Given the description of an element on the screen output the (x, y) to click on. 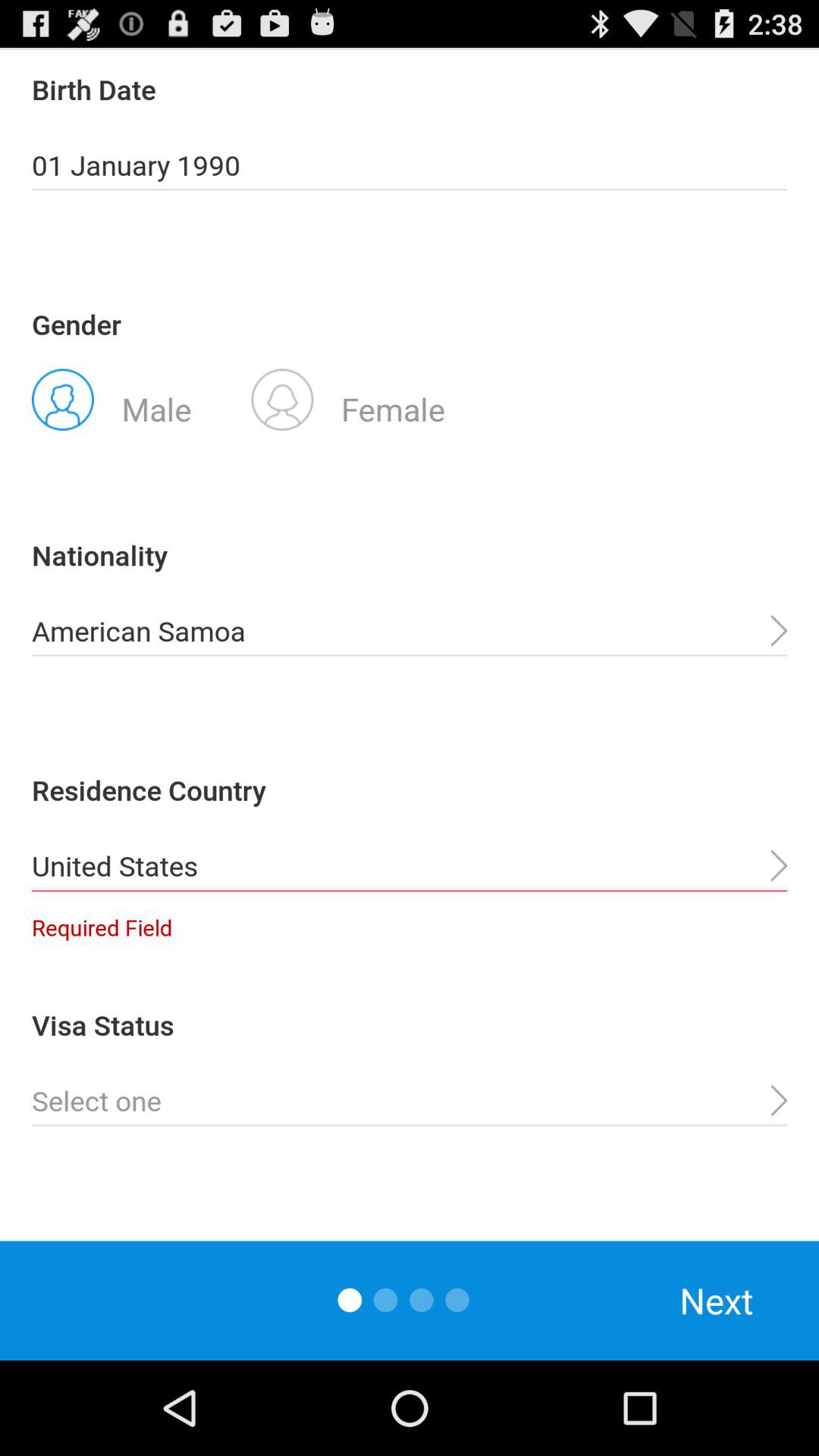
turn on app below nationality icon (409, 631)
